Given the description of an element on the screen output the (x, y) to click on. 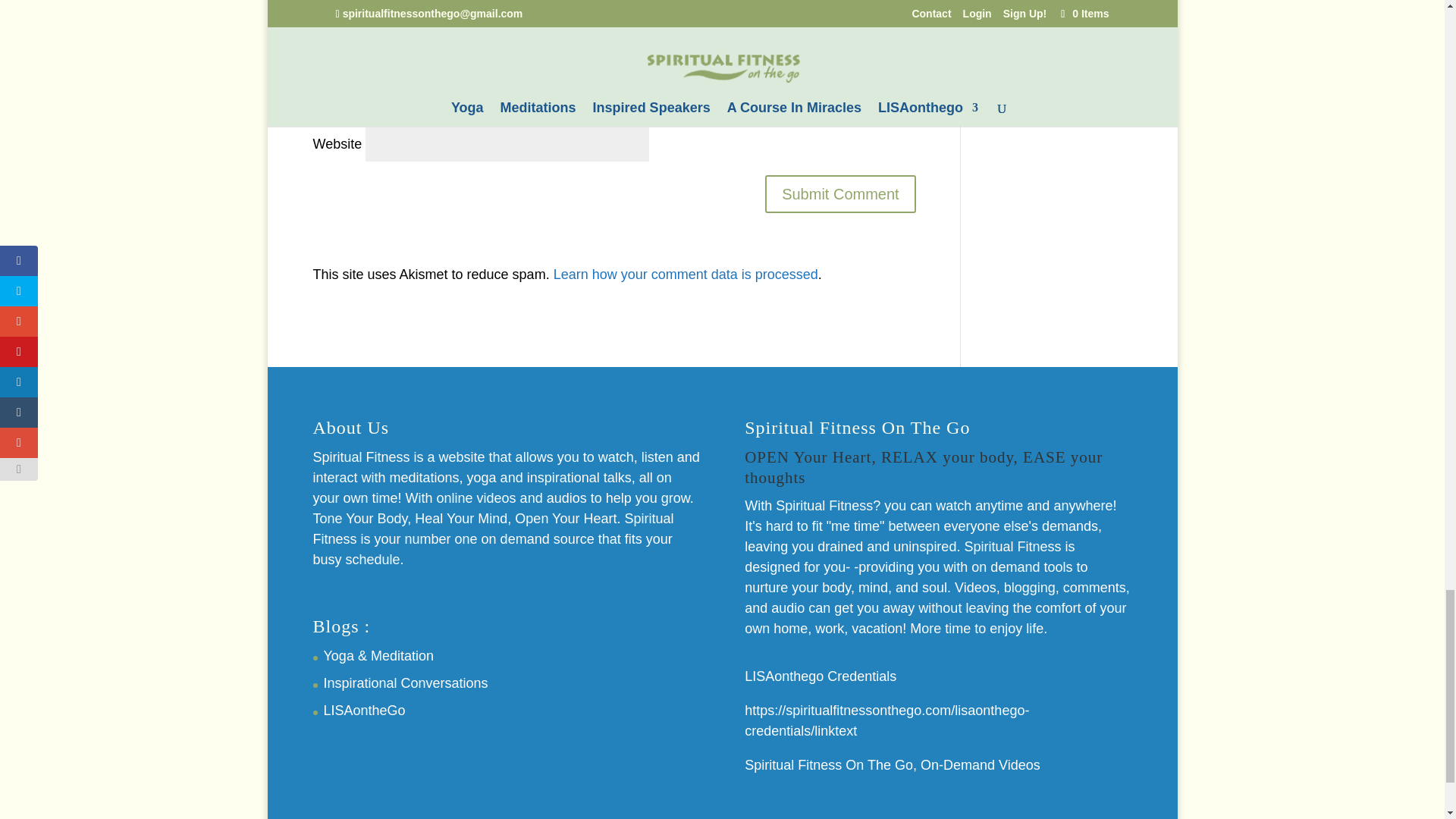
Learn how your comment data is processed (685, 273)
Submit Comment (840, 193)
Submit Comment (840, 193)
